Given the description of an element on the screen output the (x, y) to click on. 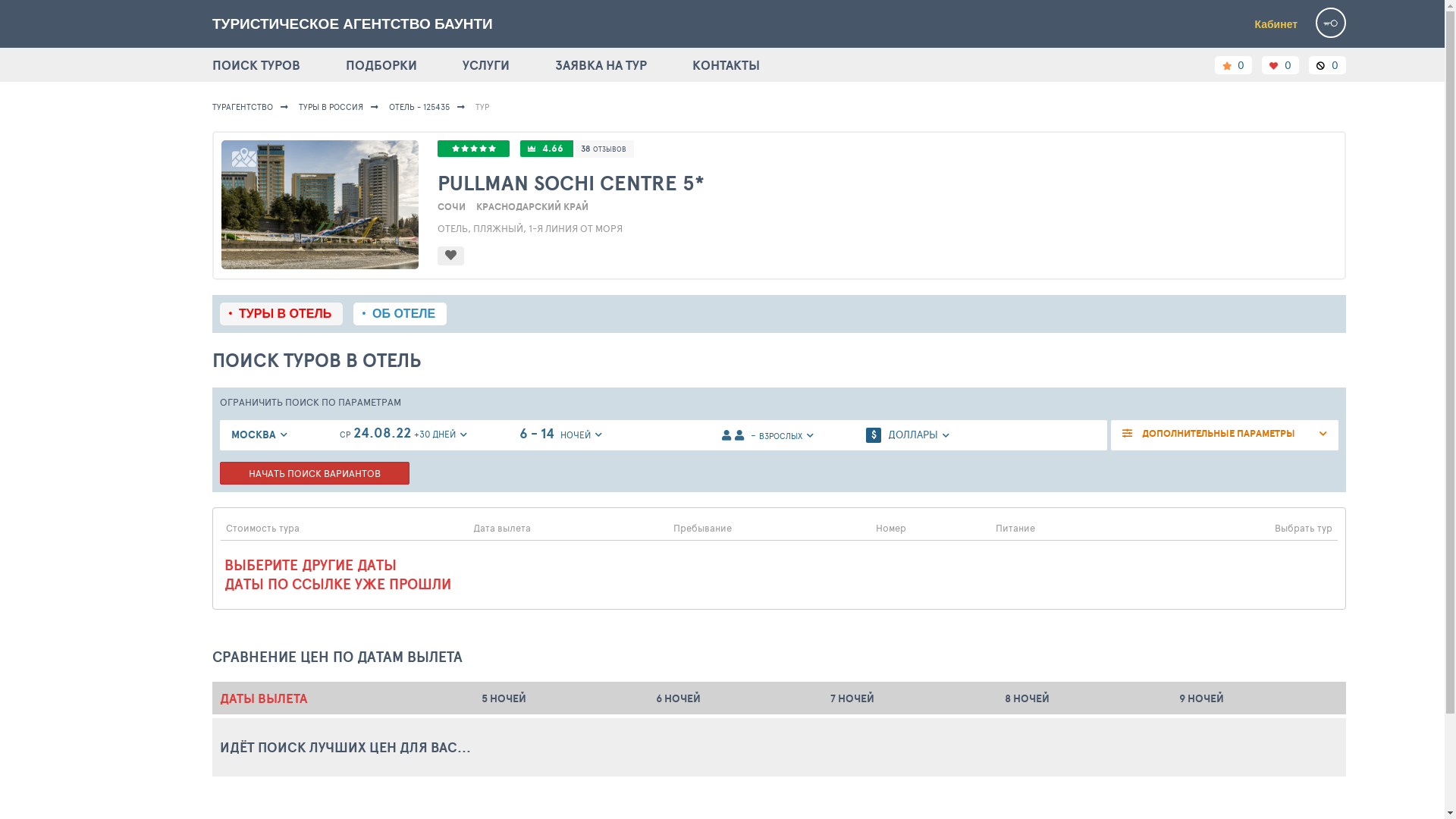
0 Element type: text (1233, 65)
0 Element type: text (1327, 65)
PULLMAN SOCHI CENTRE 5* Element type: text (886, 182)
0 Element type: text (1280, 65)
